Given the description of an element on the screen output the (x, y) to click on. 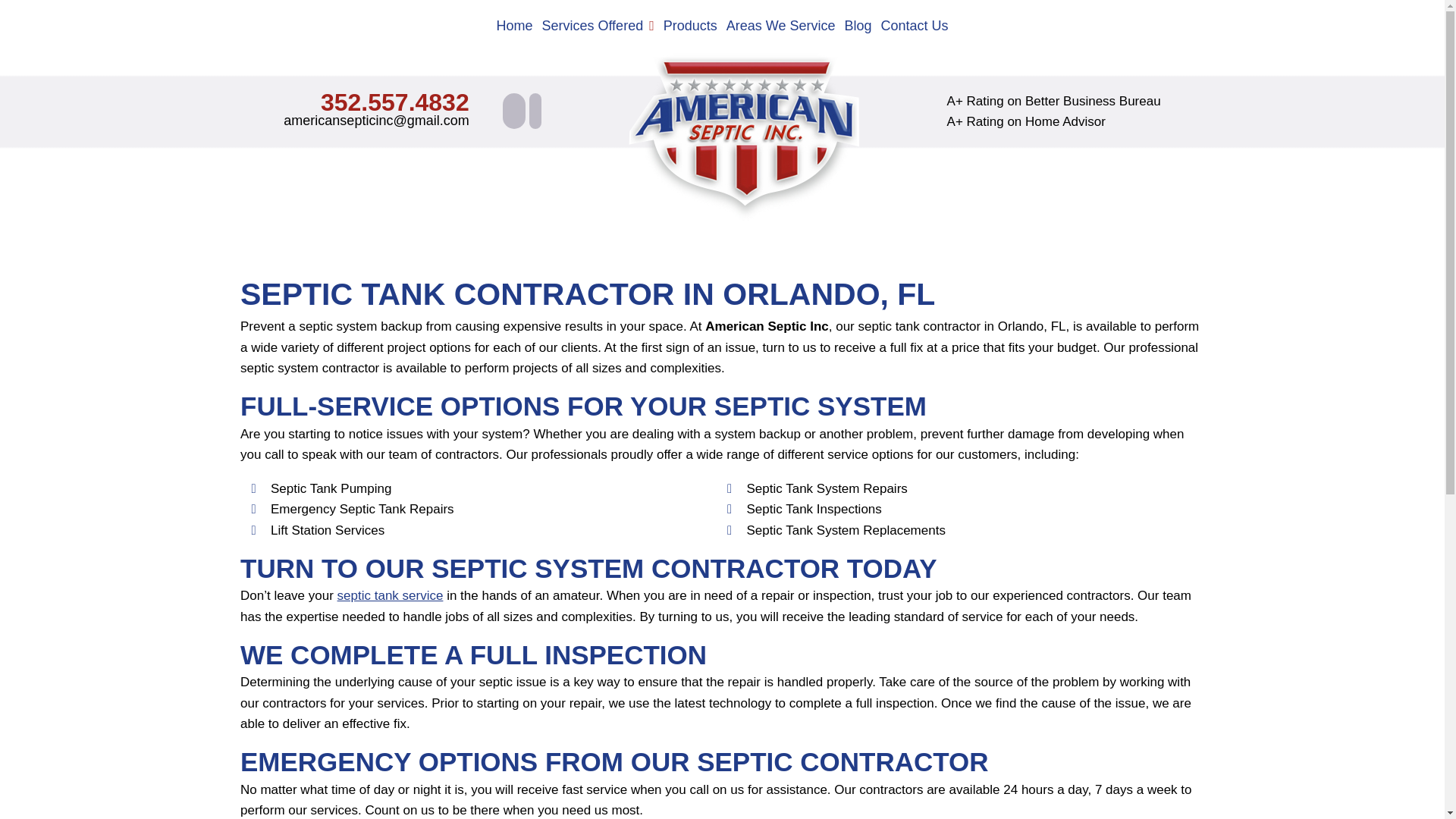
Areas We Service (781, 26)
352.557.4832 (394, 102)
Products (690, 26)
Blog (858, 26)
septic tank service (390, 595)
Home (514, 26)
Services Offered (597, 26)
Contact Us (914, 26)
